Given the description of an element on the screen output the (x, y) to click on. 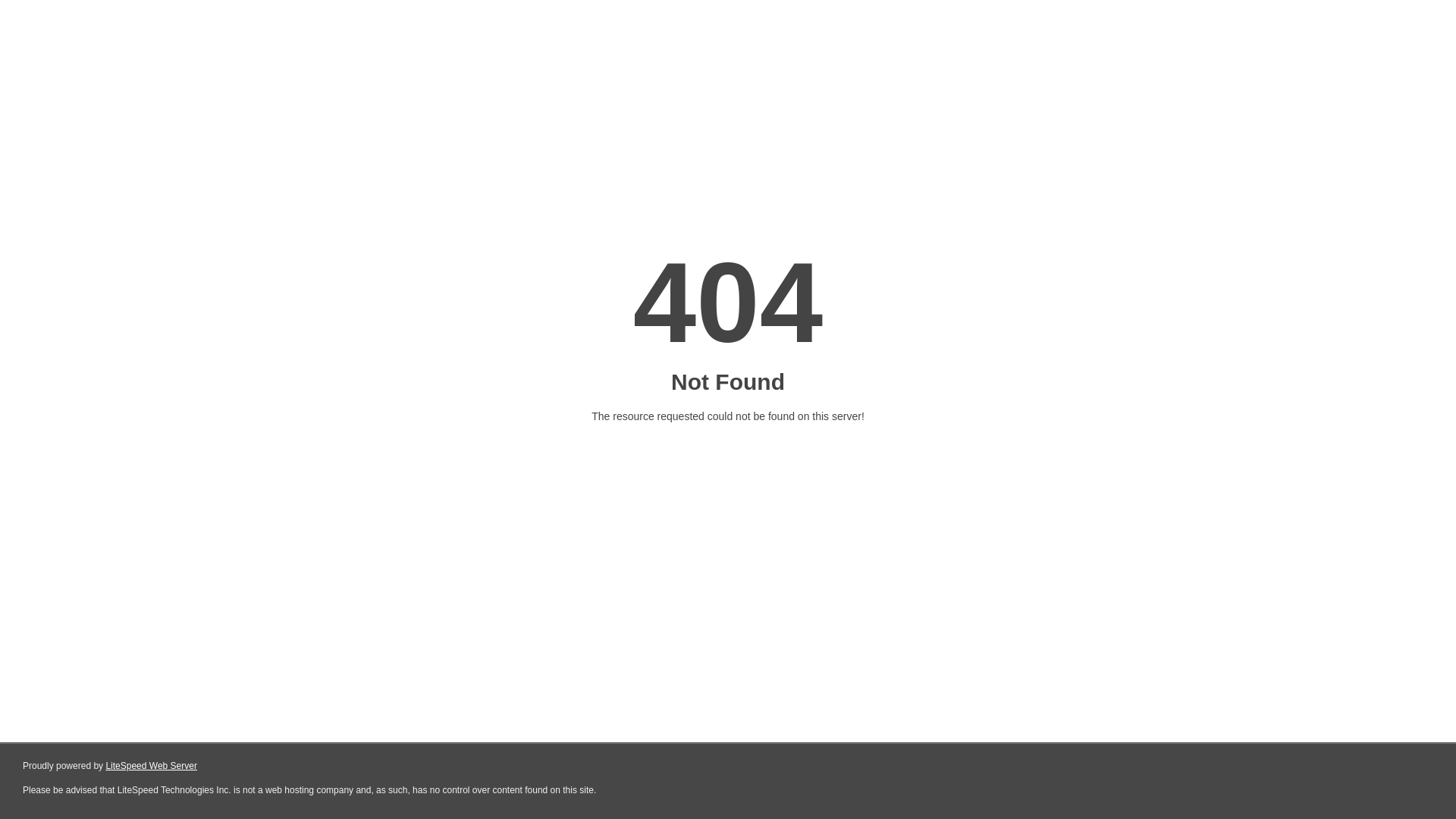
LiteSpeed Web Server Element type: text (151, 765)
